Given the description of an element on the screen output the (x, y) to click on. 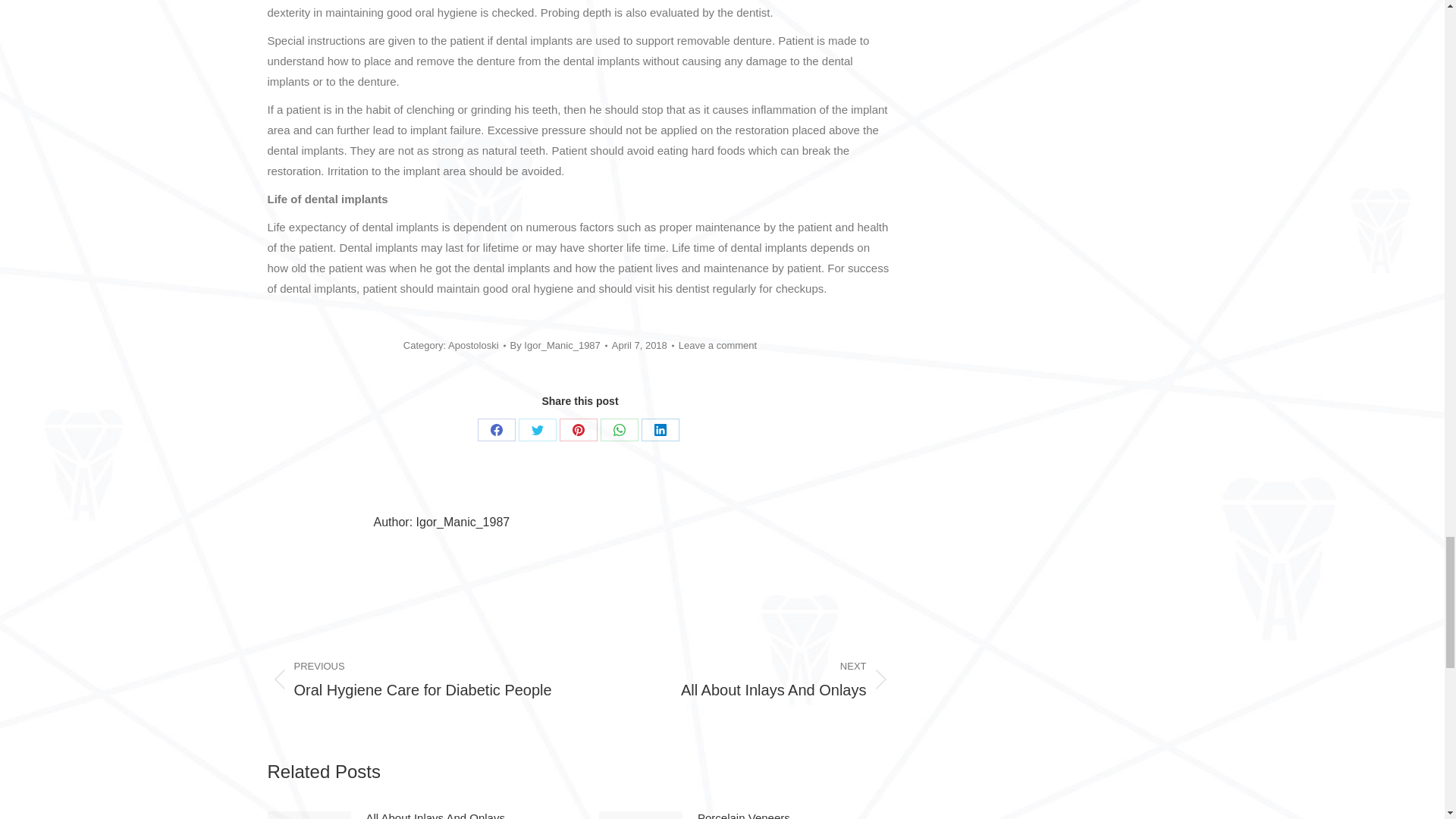
Leave a comment (717, 344)
April 7, 2018 (642, 344)
Apostoloski (472, 345)
